Given the description of an element on the screen output the (x, y) to click on. 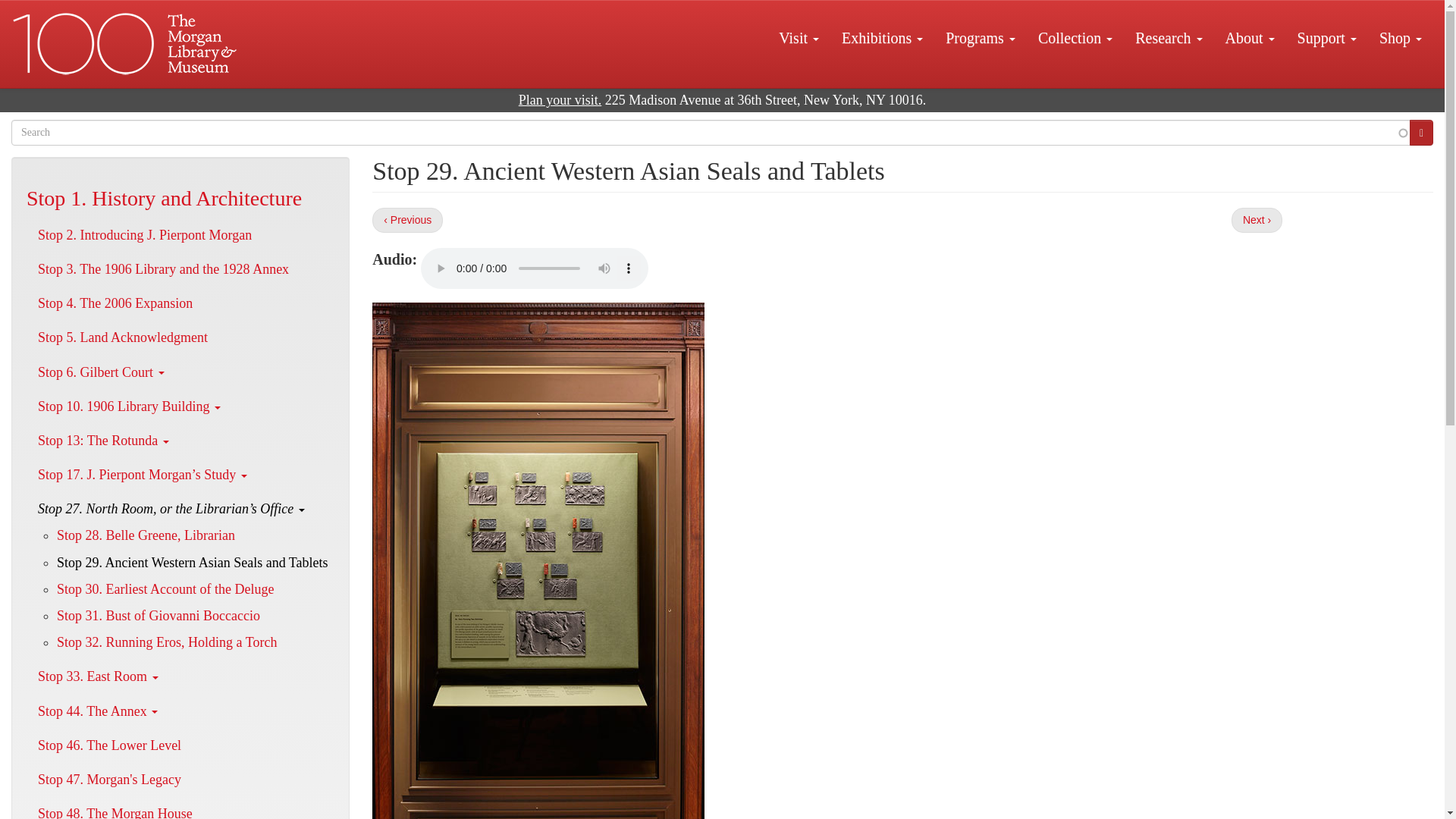
Collection (1075, 37)
Exhibitions (881, 37)
Enter the terms you wish to search for. (710, 132)
Visit (798, 37)
Search (1420, 132)
Programs (980, 37)
Go to previous page (407, 220)
Home (126, 43)
Go to next page (1256, 220)
